Given the description of an element on the screen output the (x, y) to click on. 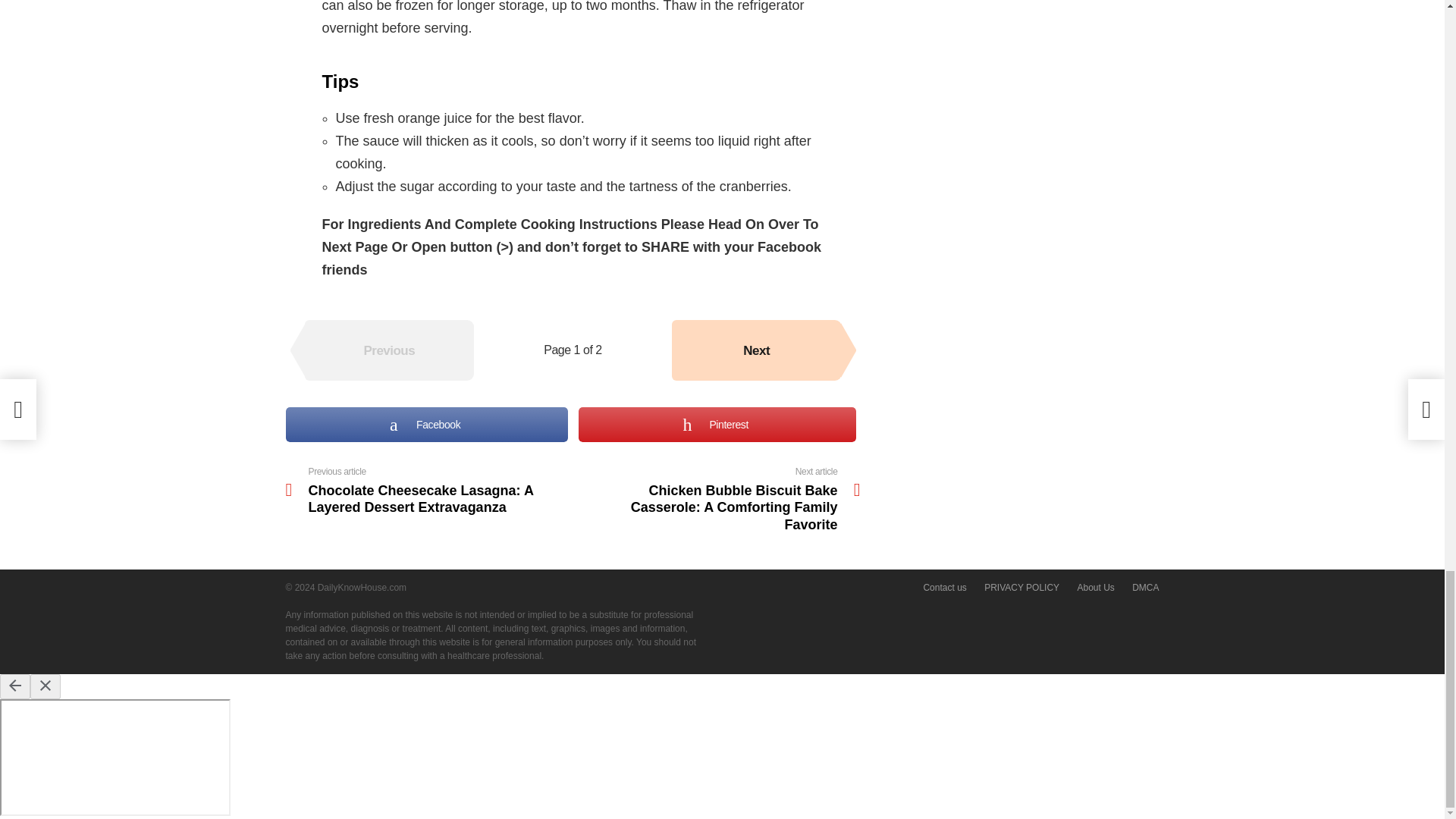
Pinterest (717, 424)
DMCA (1145, 587)
About Us (1094, 587)
PRIVACY POLICY (1021, 587)
Contact us (944, 587)
Facebook (426, 424)
Share on Facebook (426, 424)
Next (756, 350)
